Given the description of an element on the screen output the (x, y) to click on. 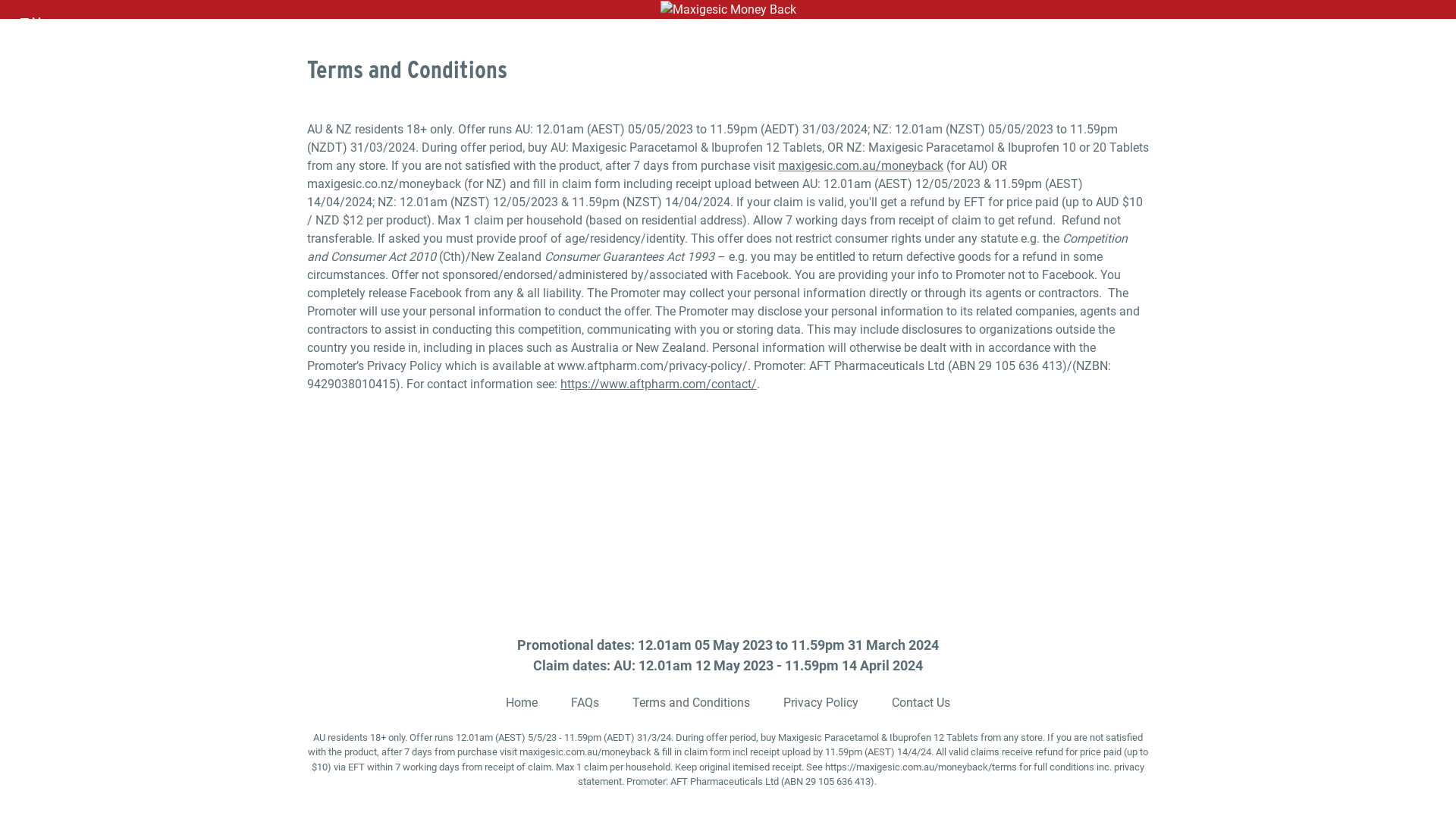
maxigesic.com.au/moneyback Element type: text (585, 751)
FAQs Element type: text (585, 702)
Contact Us Element type: text (920, 702)
Privacy Policy Element type: text (820, 702)
Terms and Conditions Element type: text (690, 702)
https://www.aftpharm.com/contact/ Element type: text (658, 383)
Menu Element type: text (38, 21)
maxigesic.com.au/moneyback Element type: text (860, 165)
Home Element type: text (521, 702)
https://maxigesic.com.au/moneyback/terms Element type: text (920, 766)
